Given the description of an element on the screen output the (x, y) to click on. 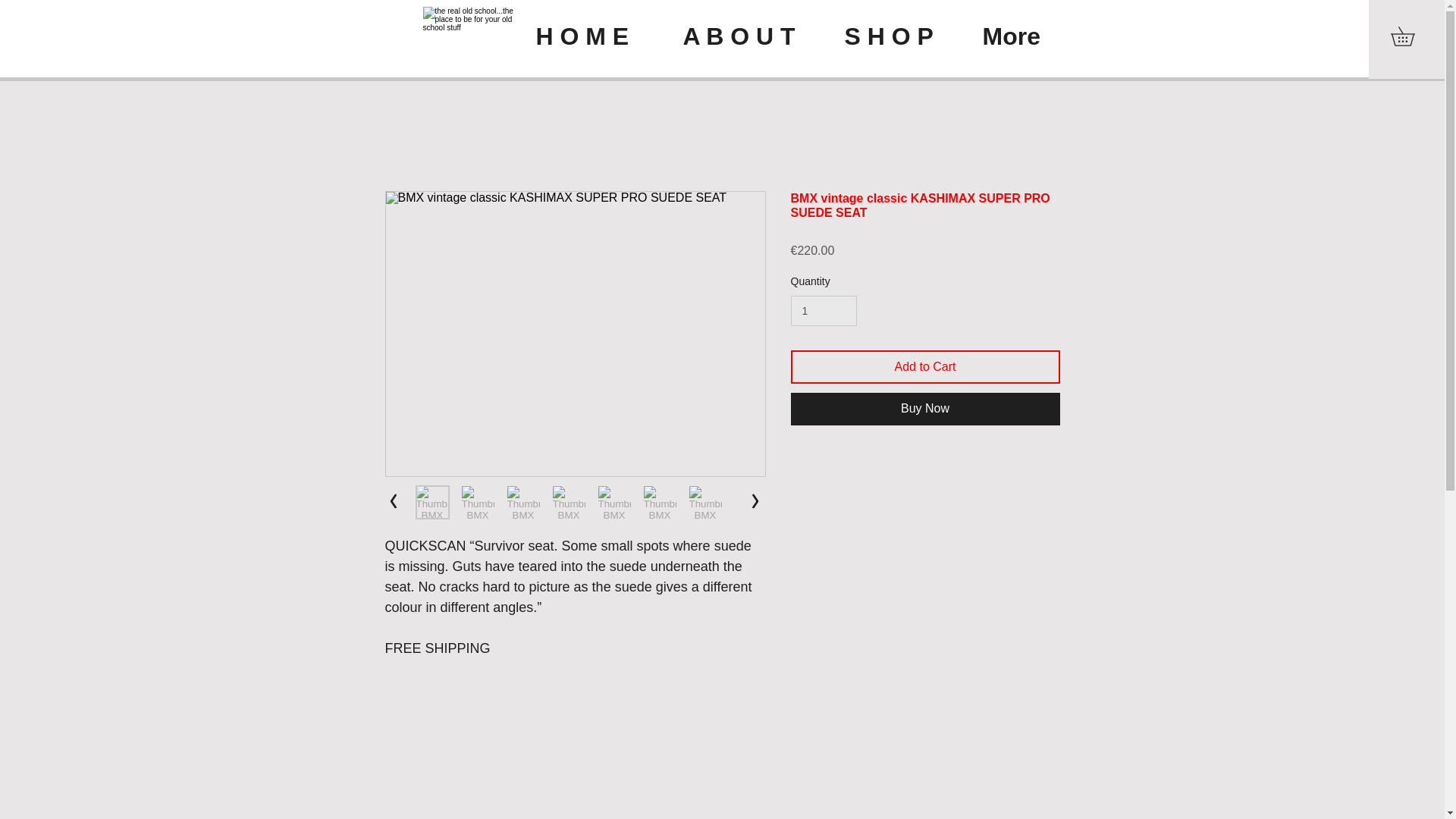
S H O P (901, 36)
Buy Now (924, 409)
1 (823, 310)
Add to Cart (924, 367)
A B O U T (751, 36)
H O M E (597, 36)
